Given the description of an element on the screen output the (x, y) to click on. 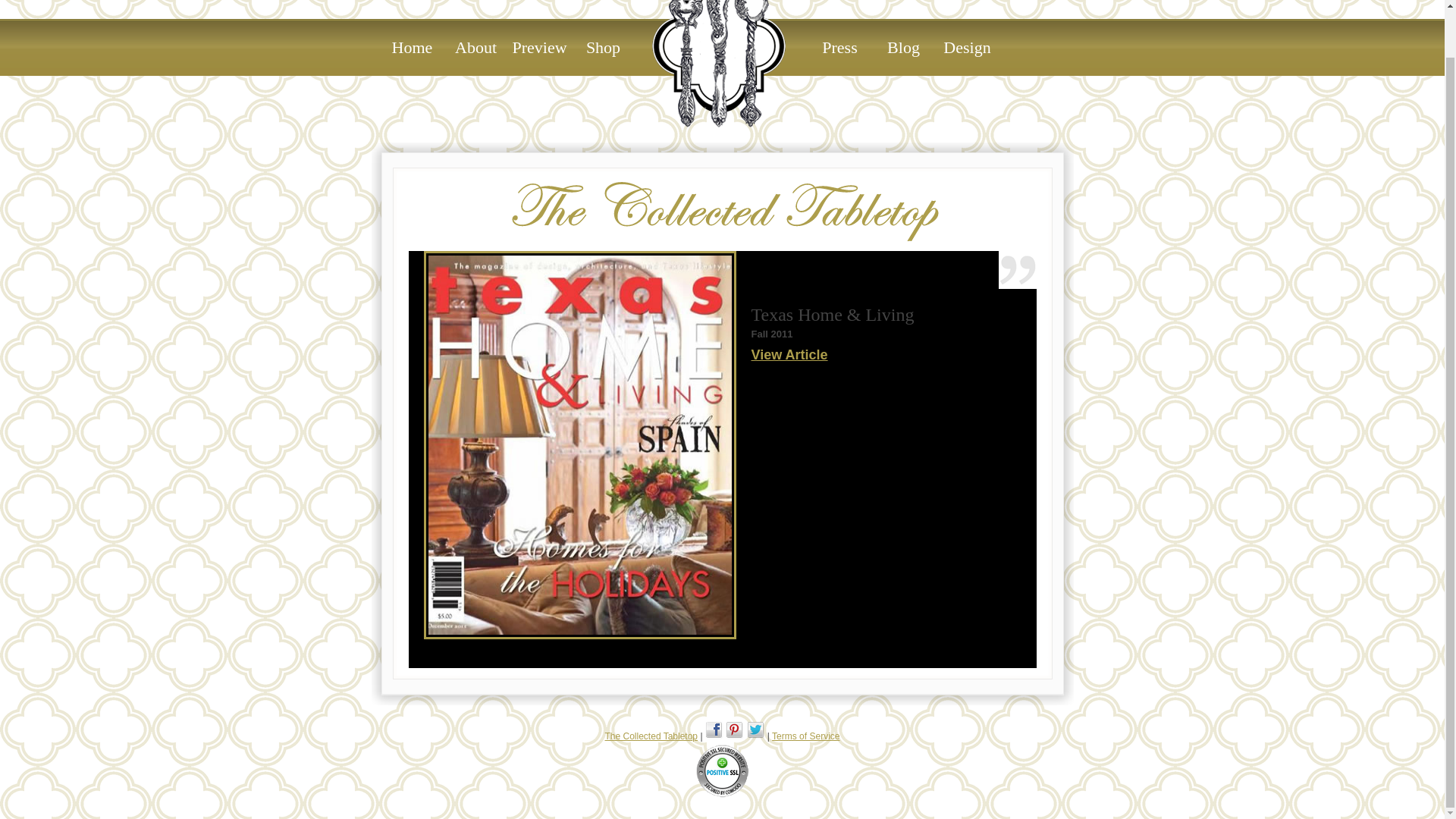
Terms of Service (805, 736)
Press (840, 47)
Blog (904, 47)
Shop (603, 47)
Design (967, 47)
Home (412, 47)
About (476, 47)
The Collected Tabletop (651, 736)
The Collected Tabletop (651, 736)
View Article (789, 354)
The Collected Tabletop (718, 64)
Preview (540, 47)
